Given the description of an element on the screen output the (x, y) to click on. 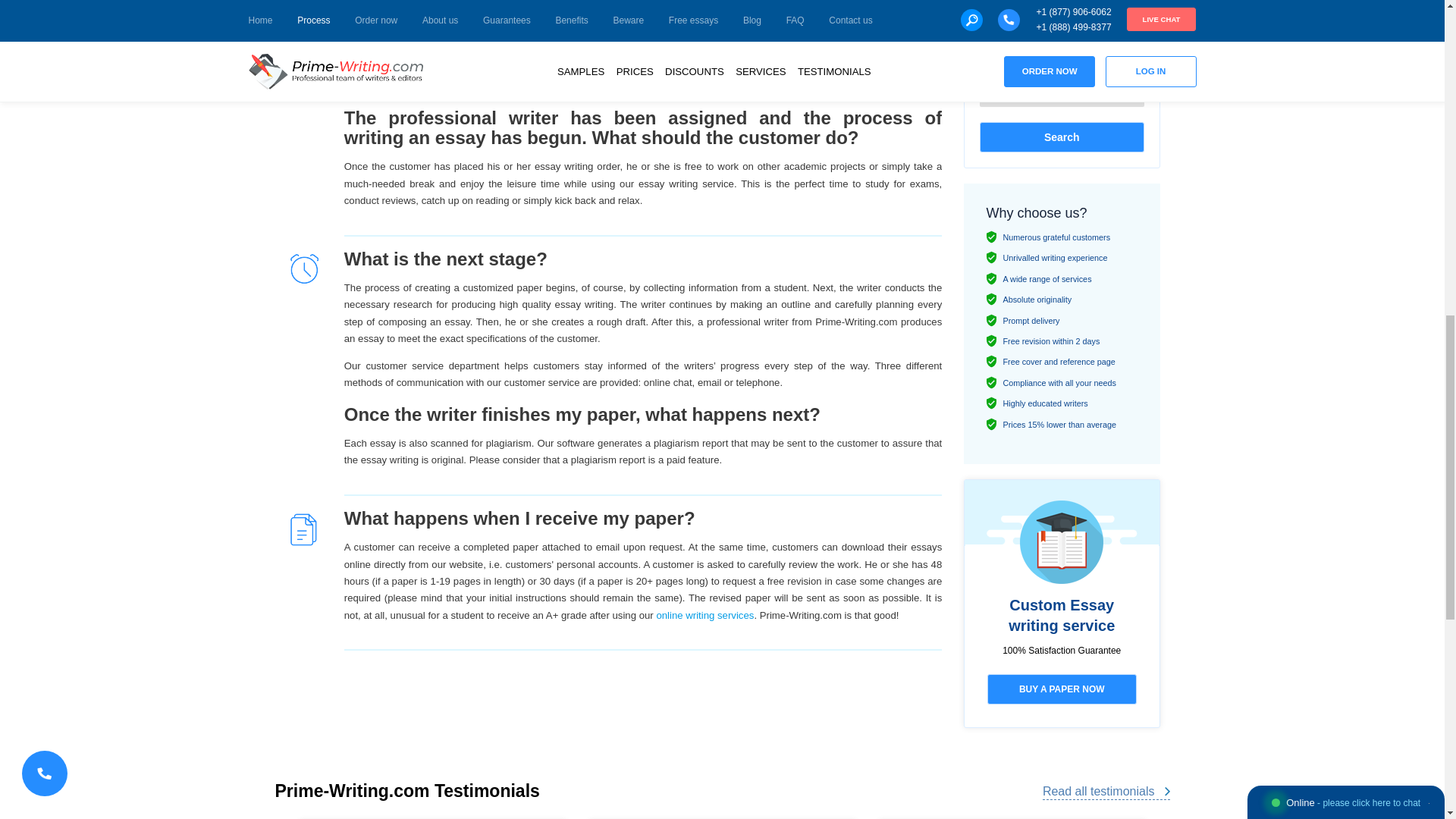
Search (1061, 137)
